Given the description of an element on the screen output the (x, y) to click on. 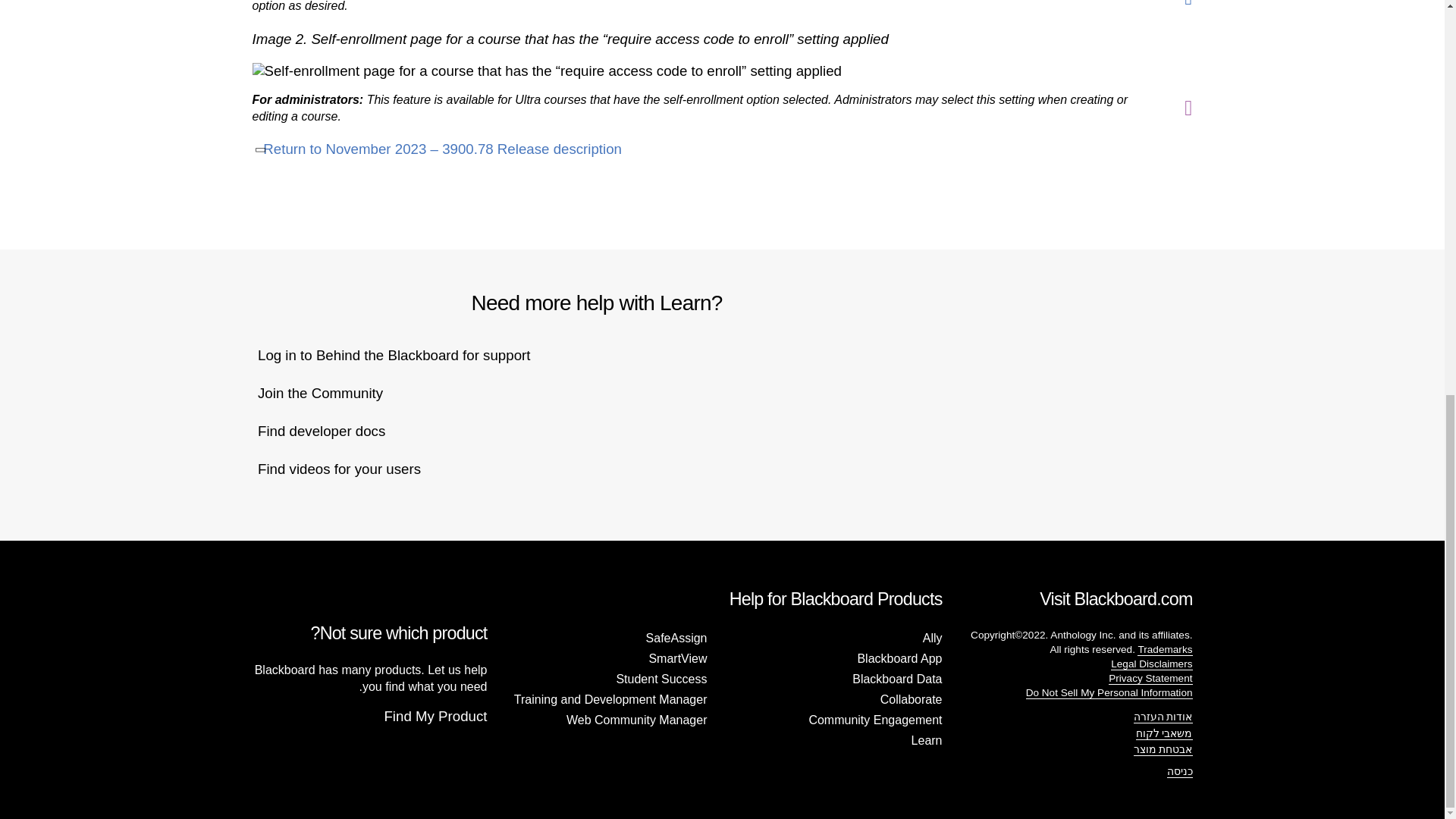
Visit Blackboard.com (330, 431)
